Given the description of an element on the screen output the (x, y) to click on. 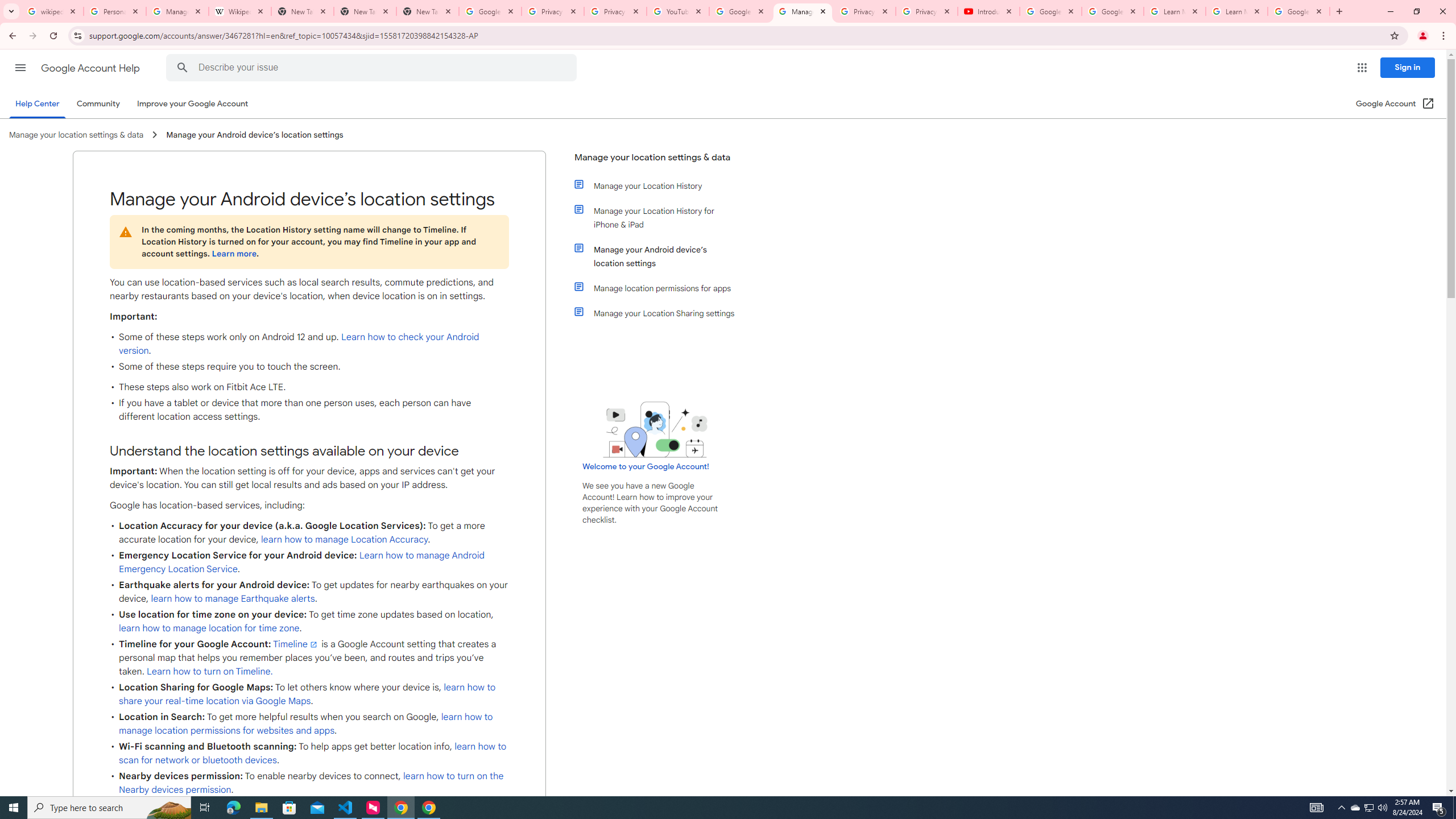
learn how to manage location for time zone (209, 627)
Learning Center home page image (655, 429)
learn how to scan for network or bluetooth devices (312, 753)
Personalization & Google Search results - Google Search Help (114, 11)
Manage your Location History - Google Search Help (177, 11)
Community (97, 103)
New Tab (365, 11)
